Given the description of an element on the screen output the (x, y) to click on. 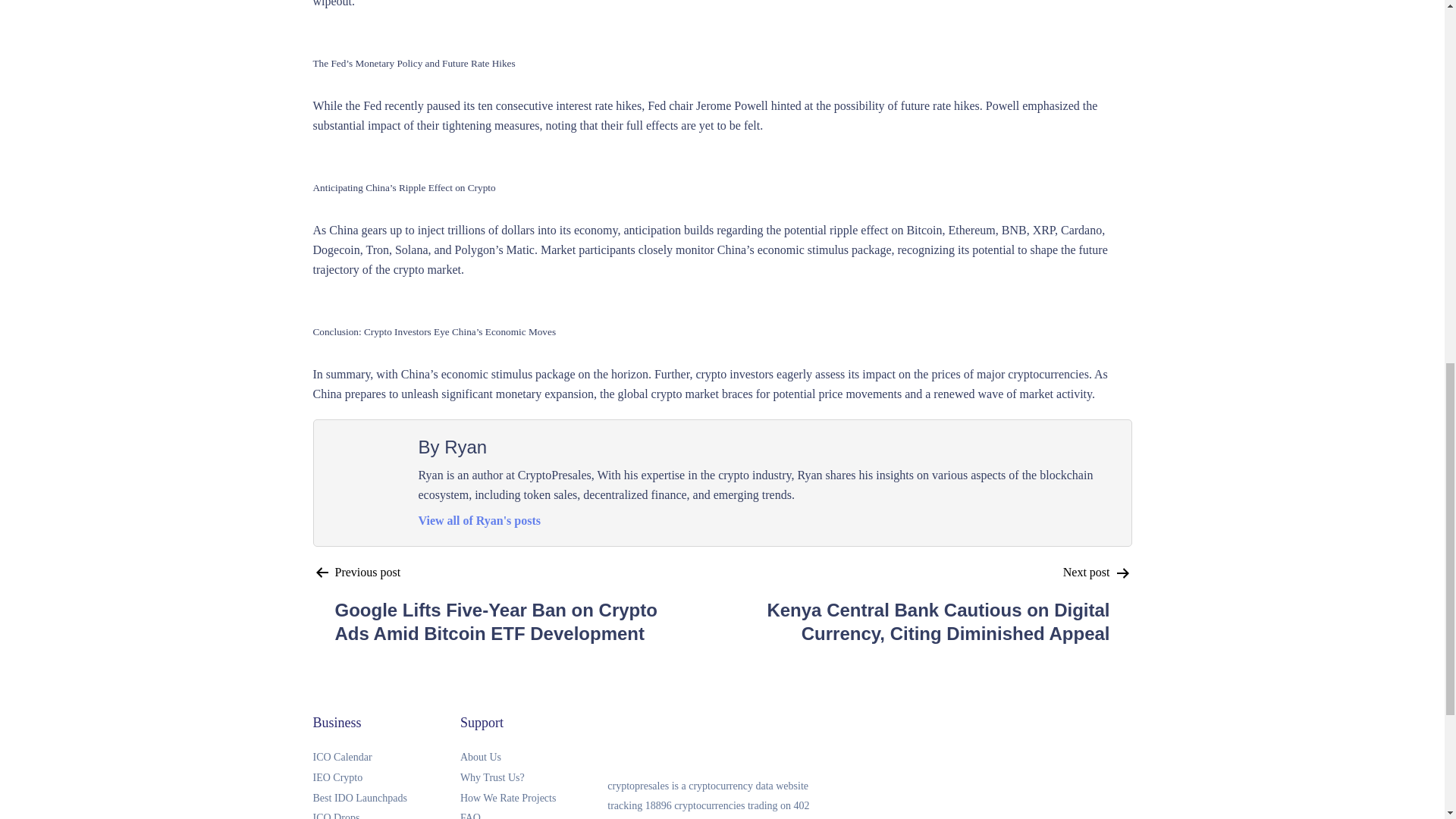
ICO Calendar (386, 757)
ICO Drops (386, 813)
Why Trust Us? (533, 778)
Best IDO Launchpads (386, 798)
View all of Ryan's posts (480, 520)
FAQ (533, 813)
How We Rate Projects (533, 798)
About Us (533, 757)
IEO Crypto (386, 778)
